Given the description of an element on the screen output the (x, y) to click on. 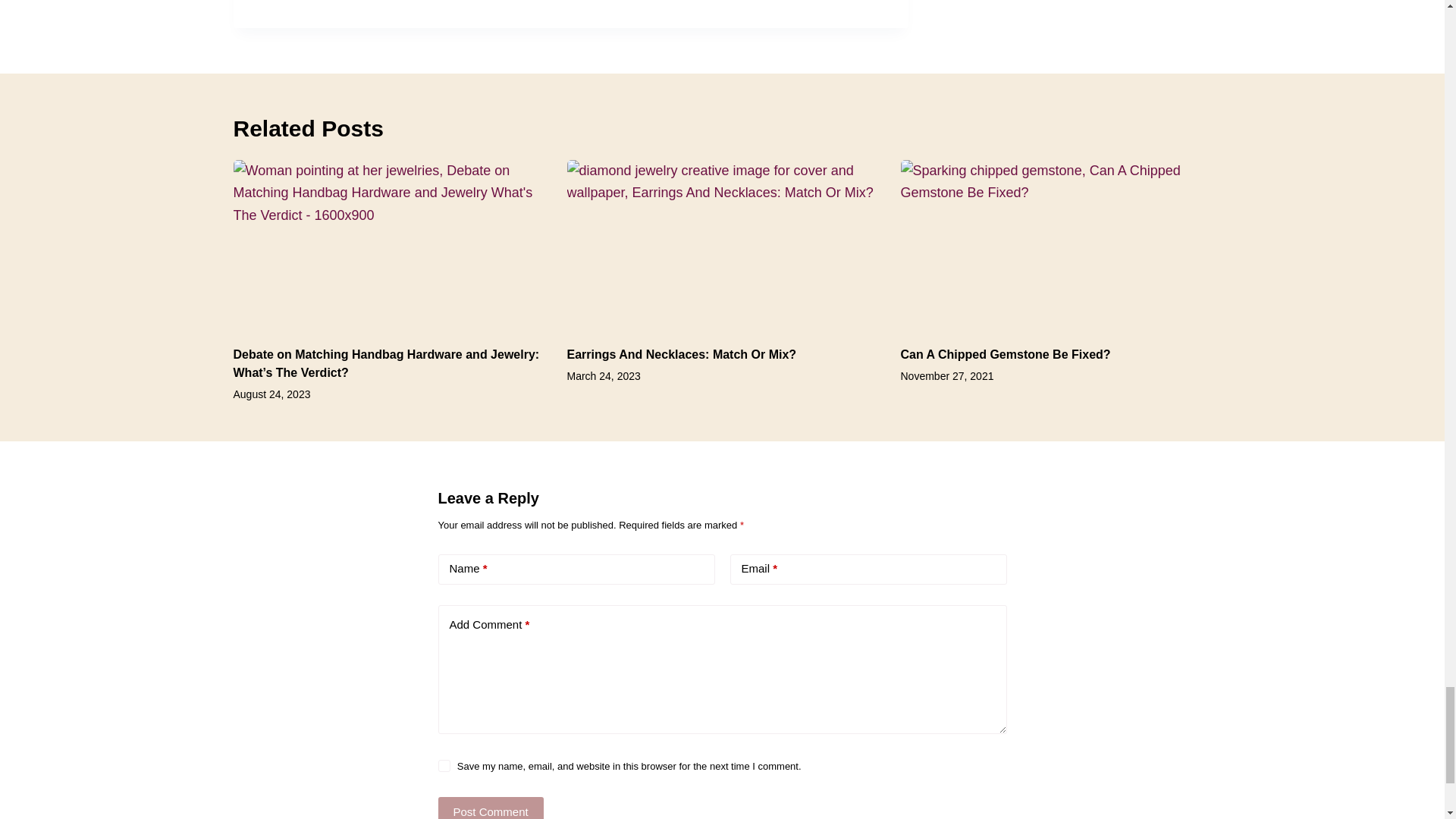
yes (443, 766)
